Given the description of an element on the screen output the (x, y) to click on. 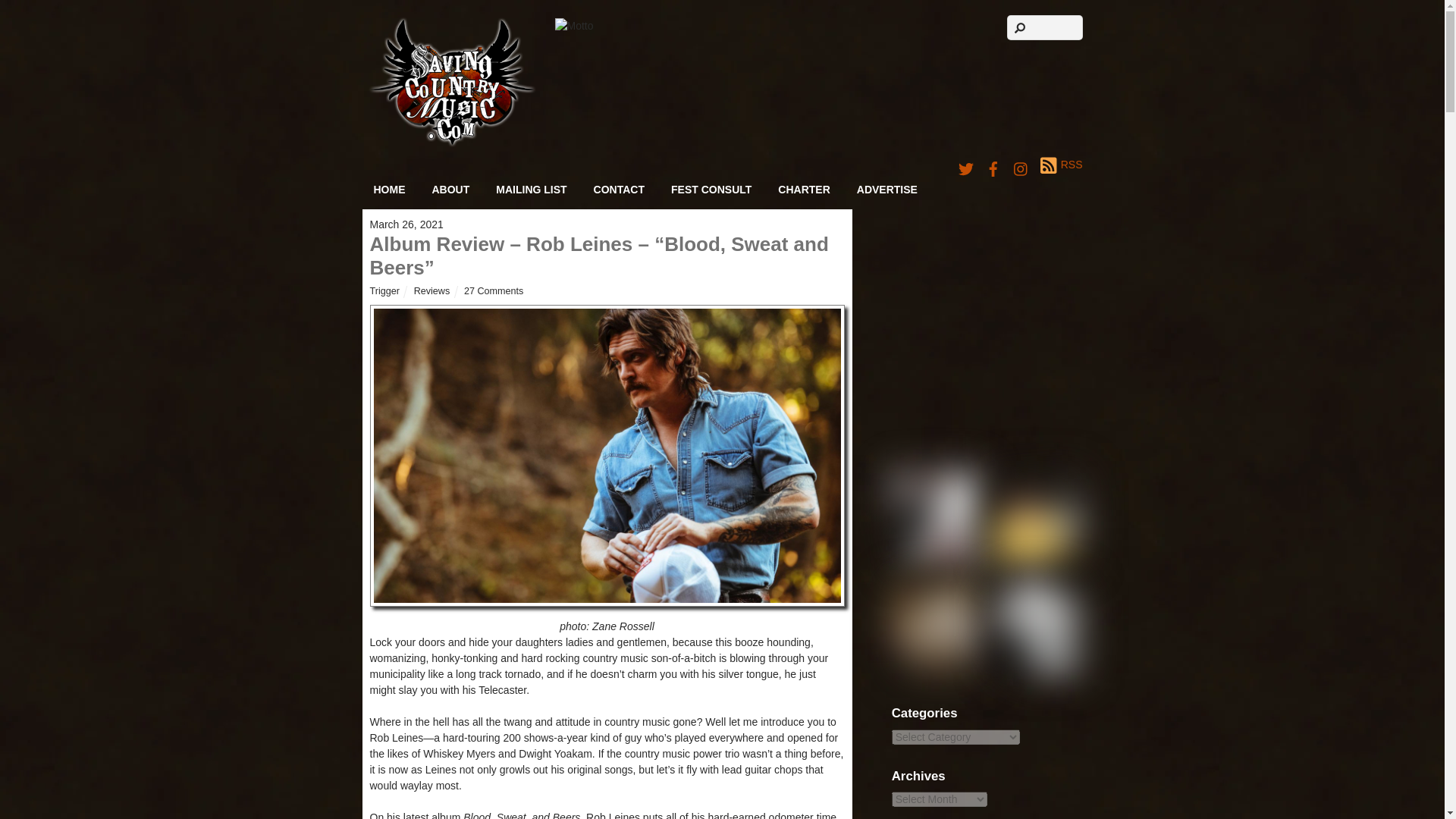
HOME (389, 190)
27 Comments (493, 290)
ABOUT (450, 190)
Saving Country Music (451, 142)
CONTACT (619, 190)
Reviews (431, 290)
RSS (1061, 165)
ADVERTISE (886, 190)
Trigger (383, 290)
FEST CONSULT (710, 190)
